Given the description of an element on the screen output the (x, y) to click on. 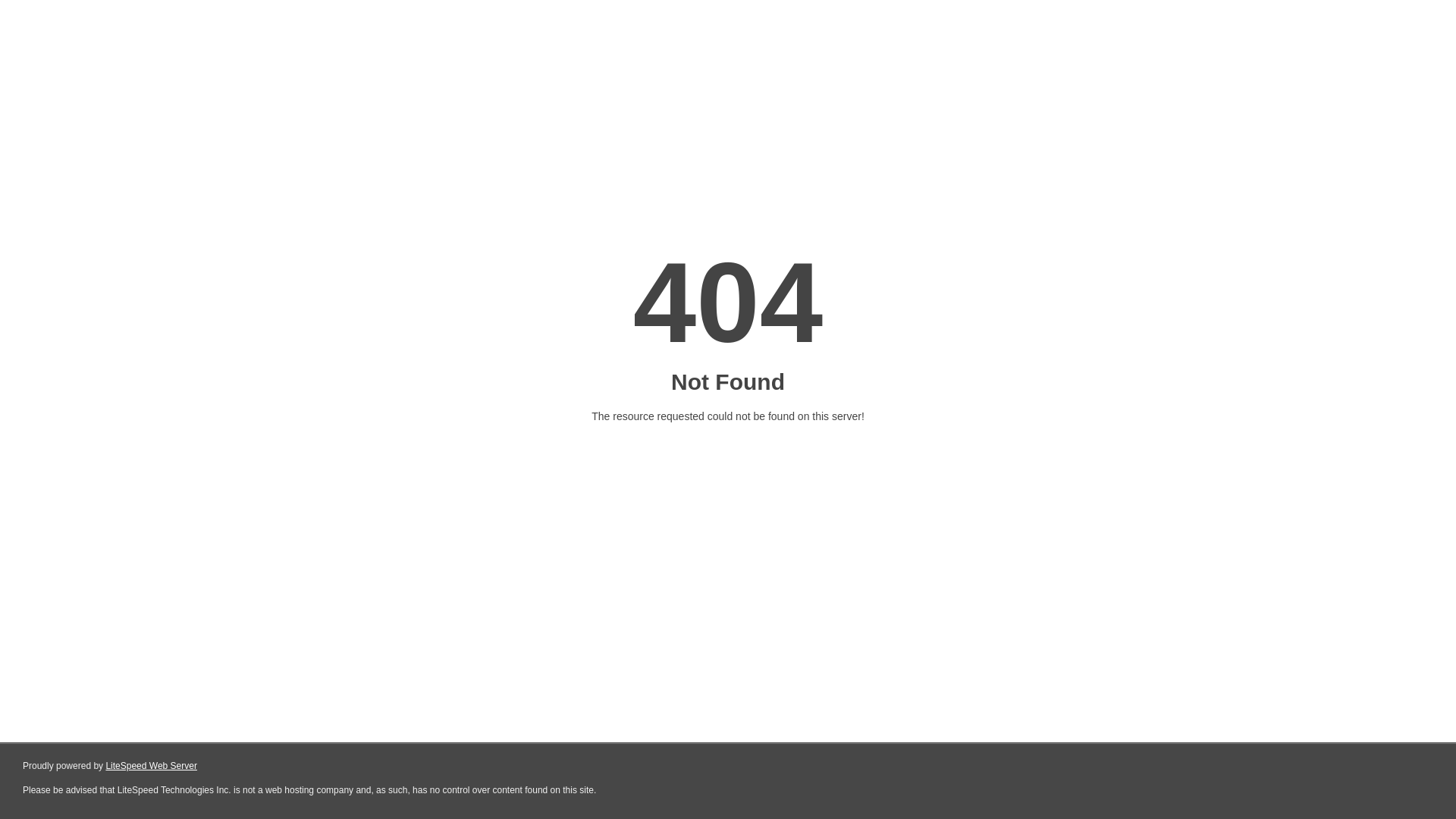
LiteSpeed Web Server Element type: text (151, 765)
